Given the description of an element on the screen output the (x, y) to click on. 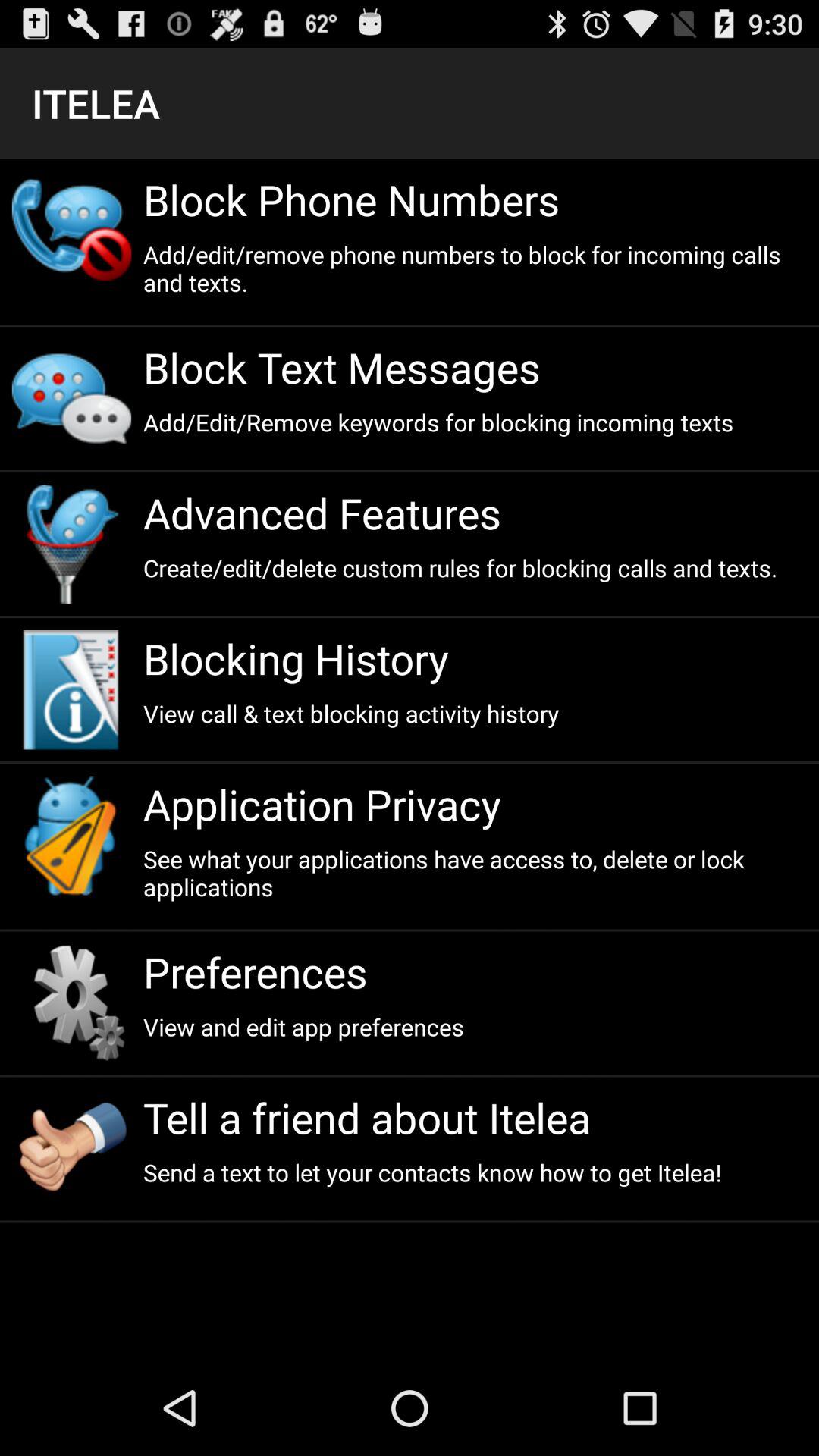
open the icon below view call text item (475, 803)
